Given the description of an element on the screen output the (x, y) to click on. 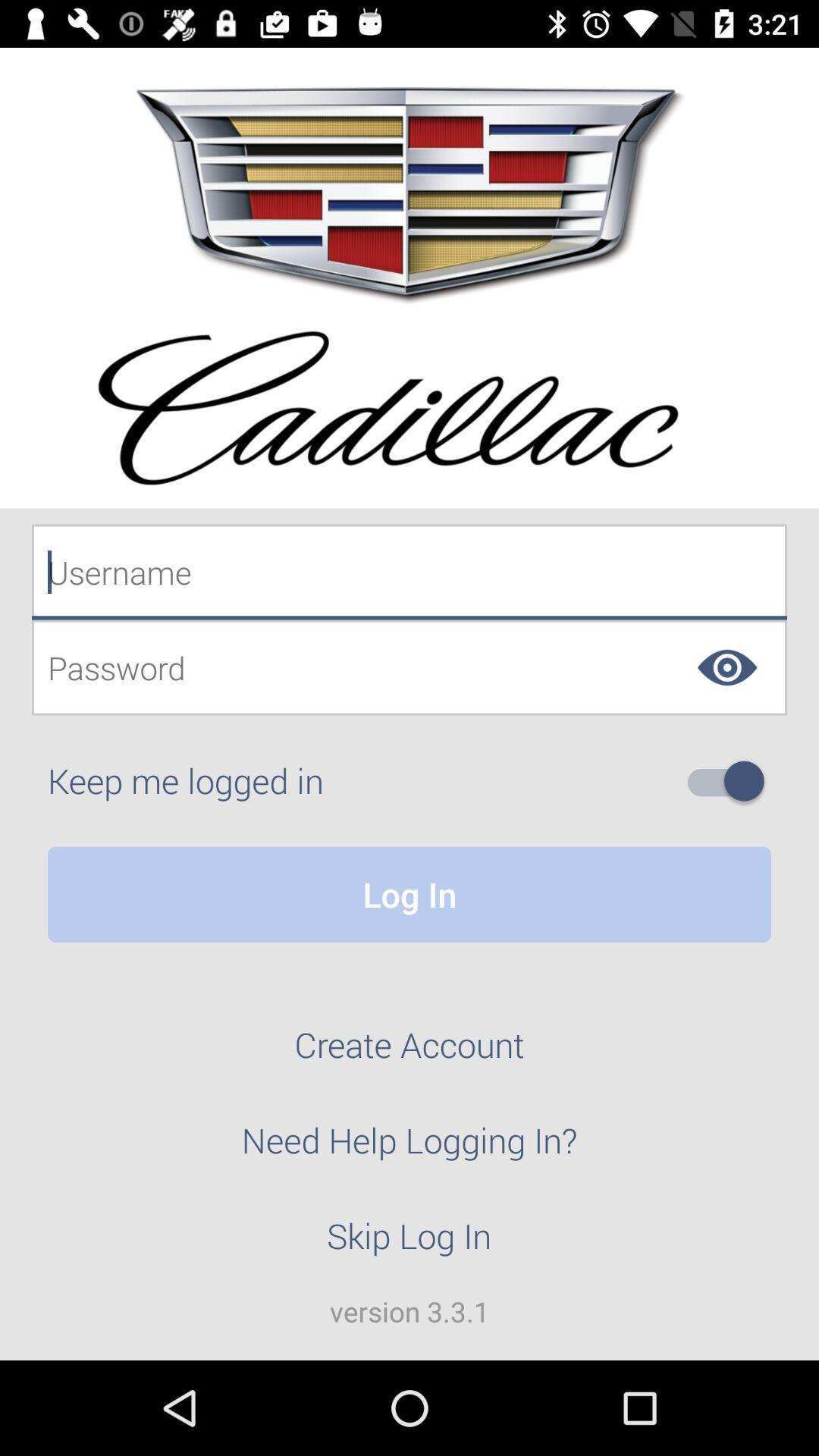
launch icon above log in (731, 781)
